Given the description of an element on the screen output the (x, y) to click on. 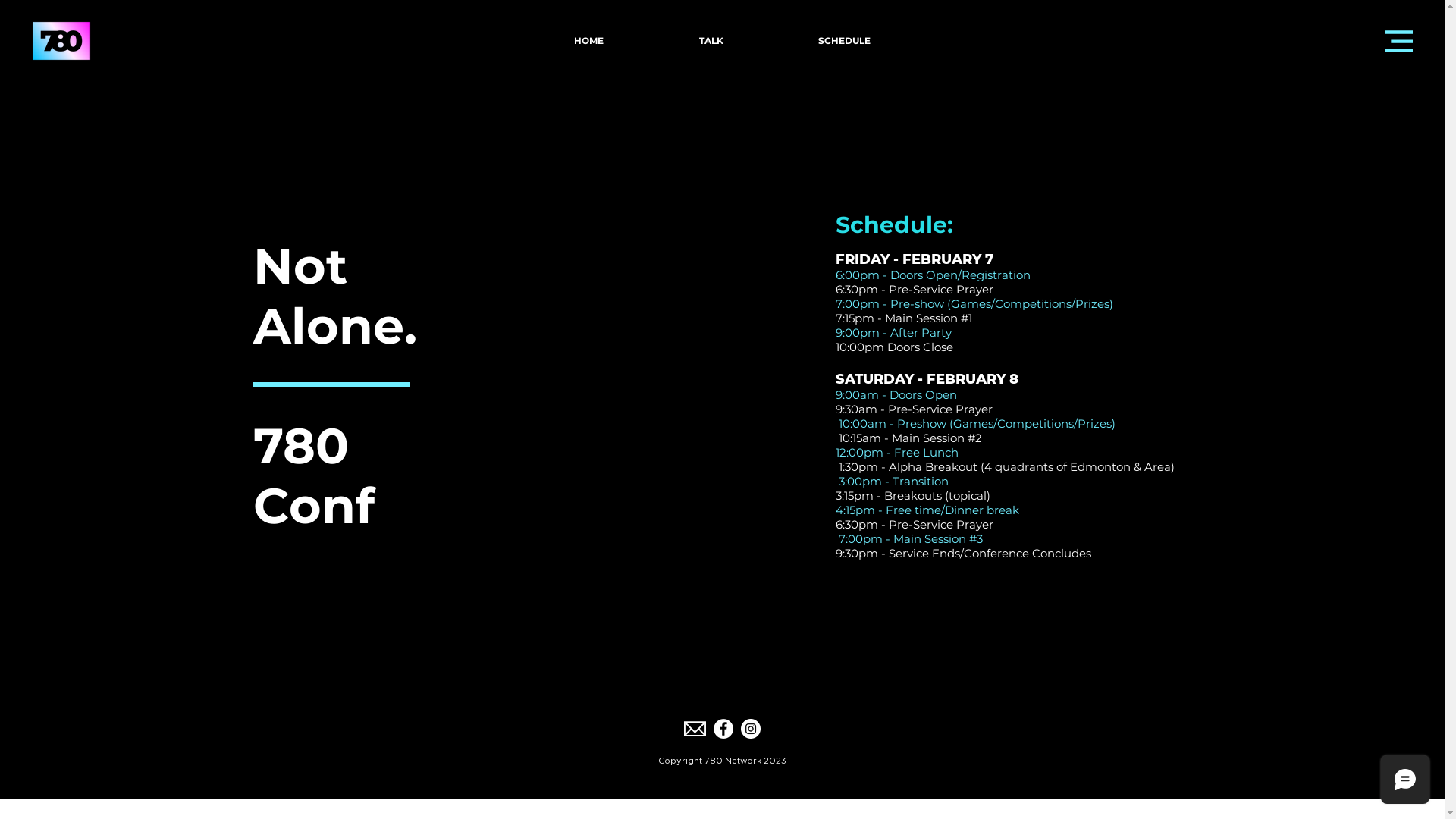
HOME Element type: text (588, 40)
SCHEDULE Element type: text (843, 40)
TALK Element type: text (710, 40)
